Given the description of an element on the screen output the (x, y) to click on. 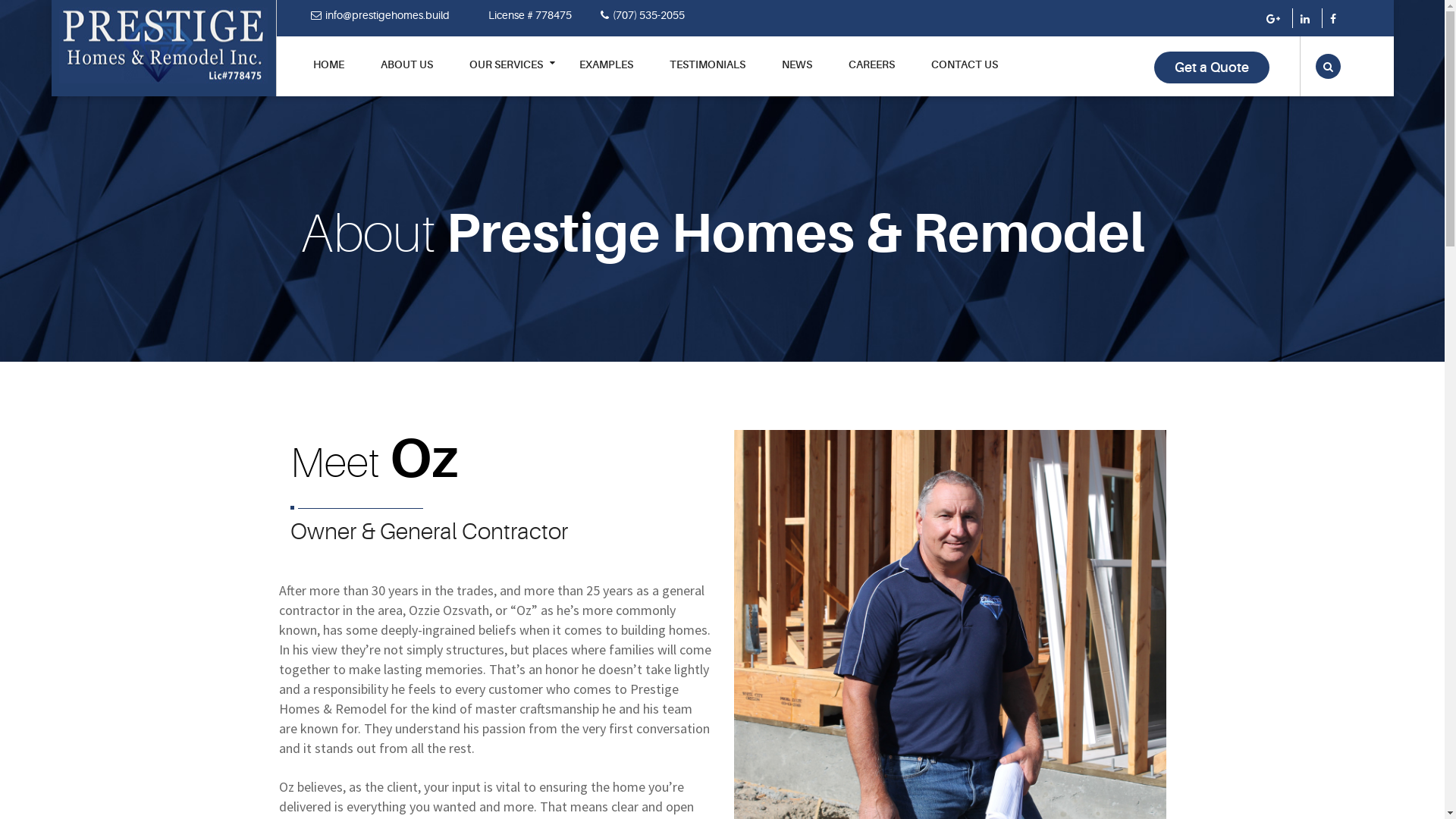
CAREERS Element type: text (870, 76)
OUR SERVICES Element type: text (505, 76)
EXAMPLES Element type: text (606, 76)
Linkedin Element type: hover (1306, 18)
Facebook Element type: hover (1335, 18)
(707) 535-2055 Element type: text (656, 14)
Google Plus Element type: hover (1275, 18)
License # 778475 Element type: text (538, 14)
NEWS Element type: text (795, 76)
CONTACT US Element type: text (964, 76)
TESTIMONIALS Element type: text (706, 76)
info@prestigehomes.build Element type: text (394, 14)
ABOUT US Element type: text (406, 76)
HOME Element type: text (327, 76)
Get a Quote Element type: text (1211, 67)
